Given the description of an element on the screen output the (x, y) to click on. 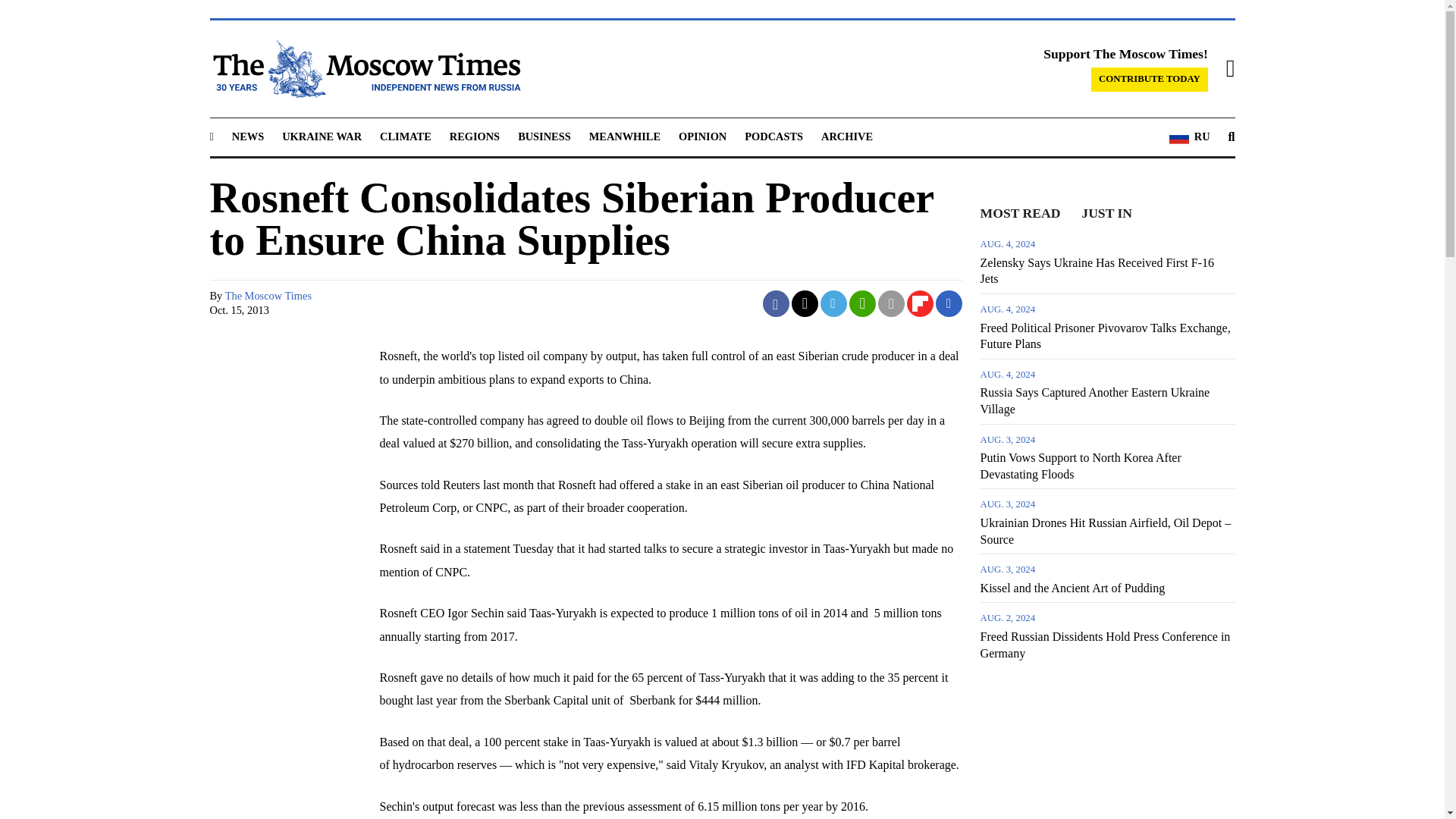
OPINION (702, 136)
Share on Facebook (775, 303)
Share on Telegram (834, 303)
REGIONS (474, 136)
The Moscow Times (268, 295)
RU (1189, 137)
The Moscow Times - Independent News from Russia (364, 68)
Share on Flipboard (920, 303)
Share on Twitter (805, 303)
CLIMATE (405, 136)
UKRAINE WAR (321, 136)
PODCASTS (773, 136)
ARCHIVE (846, 136)
CONTRIBUTE TODAY (1149, 79)
